Given the description of an element on the screen output the (x, y) to click on. 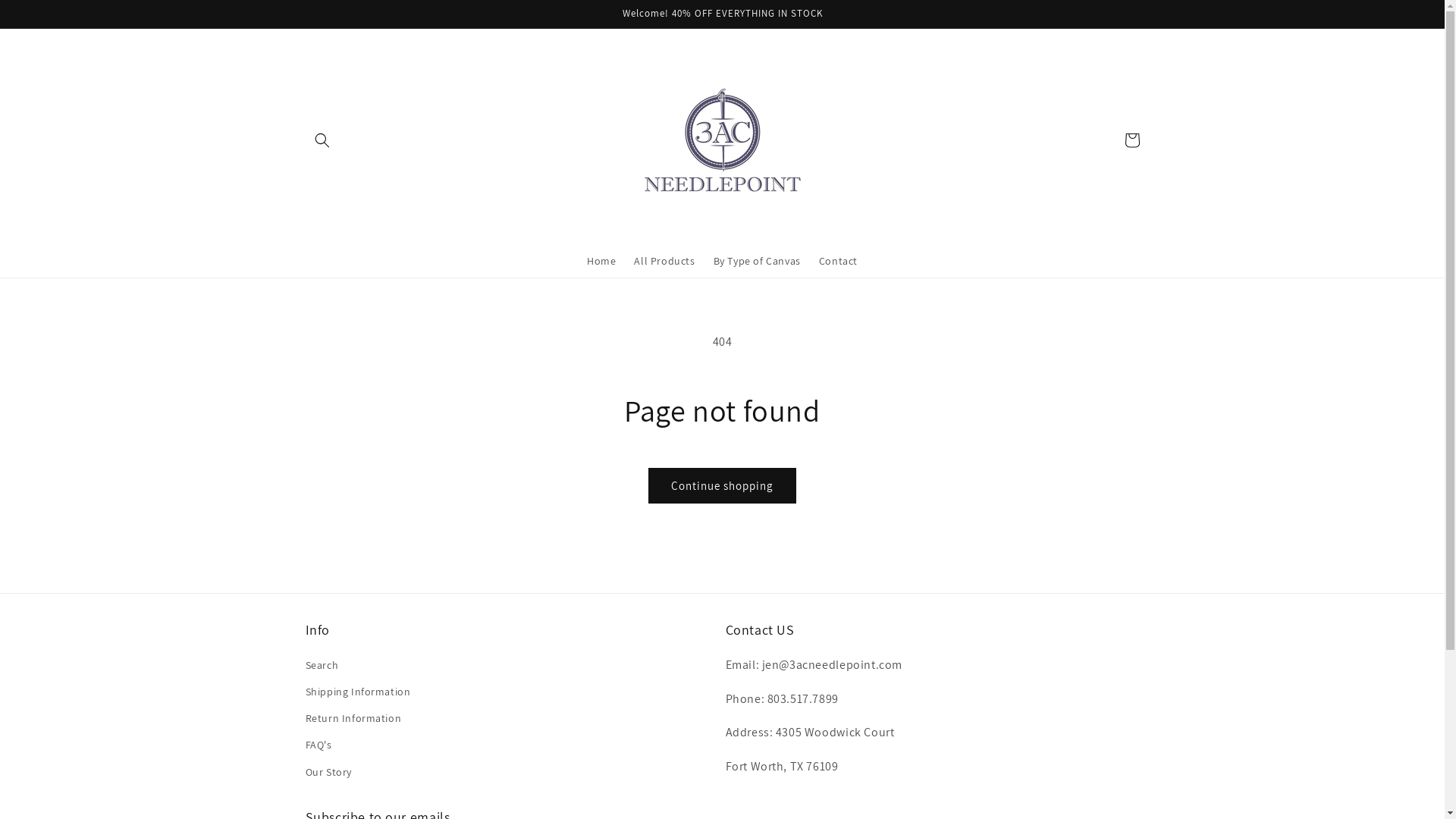
Return Information Element type: text (352, 718)
Cart Element type: text (1131, 139)
Home Element type: text (600, 260)
Shipping Information Element type: text (357, 691)
Our Story Element type: text (327, 772)
FAQ's Element type: text (317, 744)
Continue shopping Element type: text (722, 485)
Search Element type: text (321, 666)
Contact Element type: text (837, 260)
All Products Element type: text (663, 260)
By Type of Canvas Element type: text (756, 260)
